Given the description of an element on the screen output the (x, y) to click on. 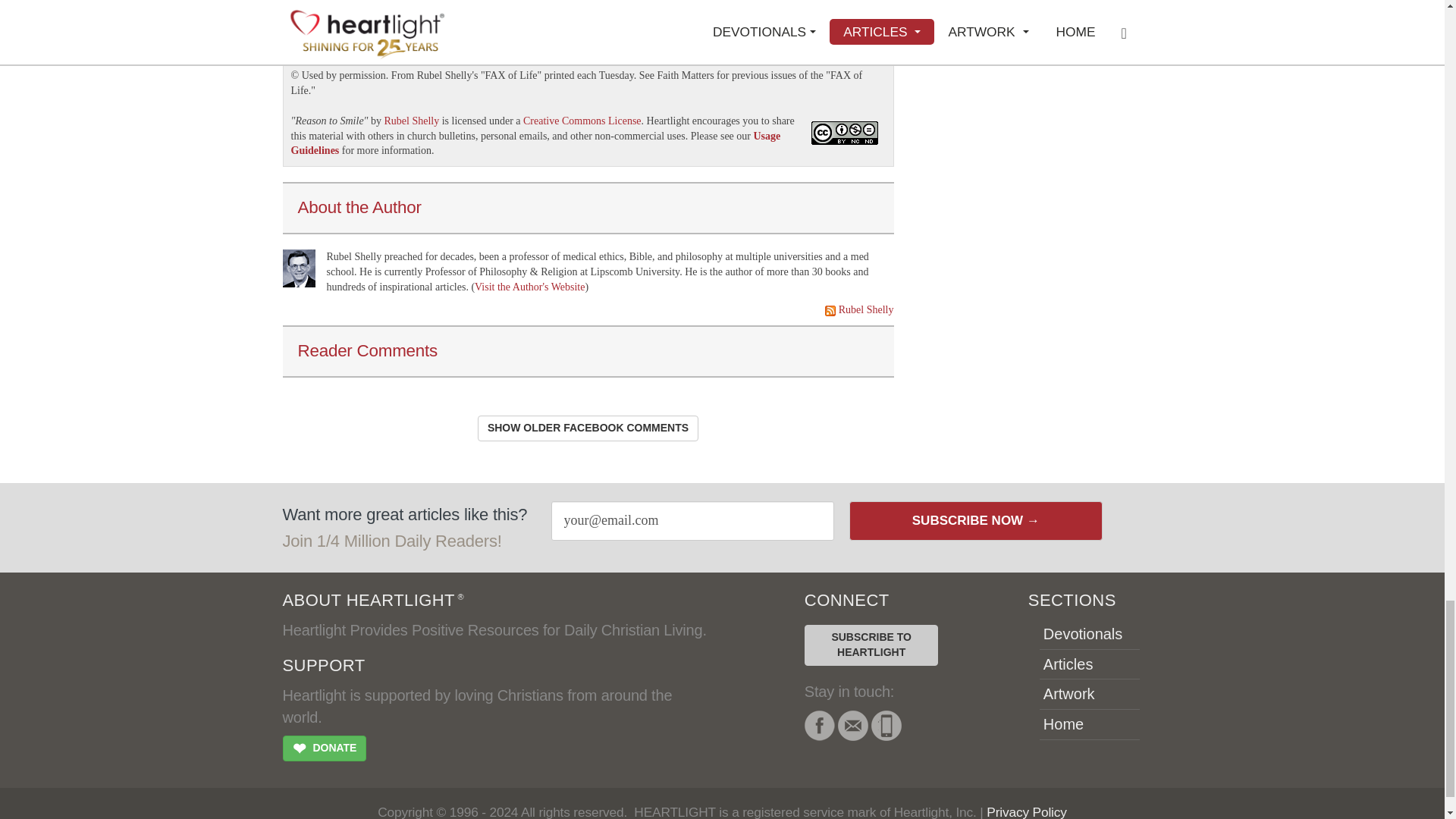
Heartlight on Facebook (819, 725)
RSS Feed of Rubel Shelly's Articles (865, 309)
Contact Us (852, 725)
RSS Feed of Rubel Shelly's Articles (830, 310)
Get the Heartlight App (885, 725)
